Given the description of an element on the screen output the (x, y) to click on. 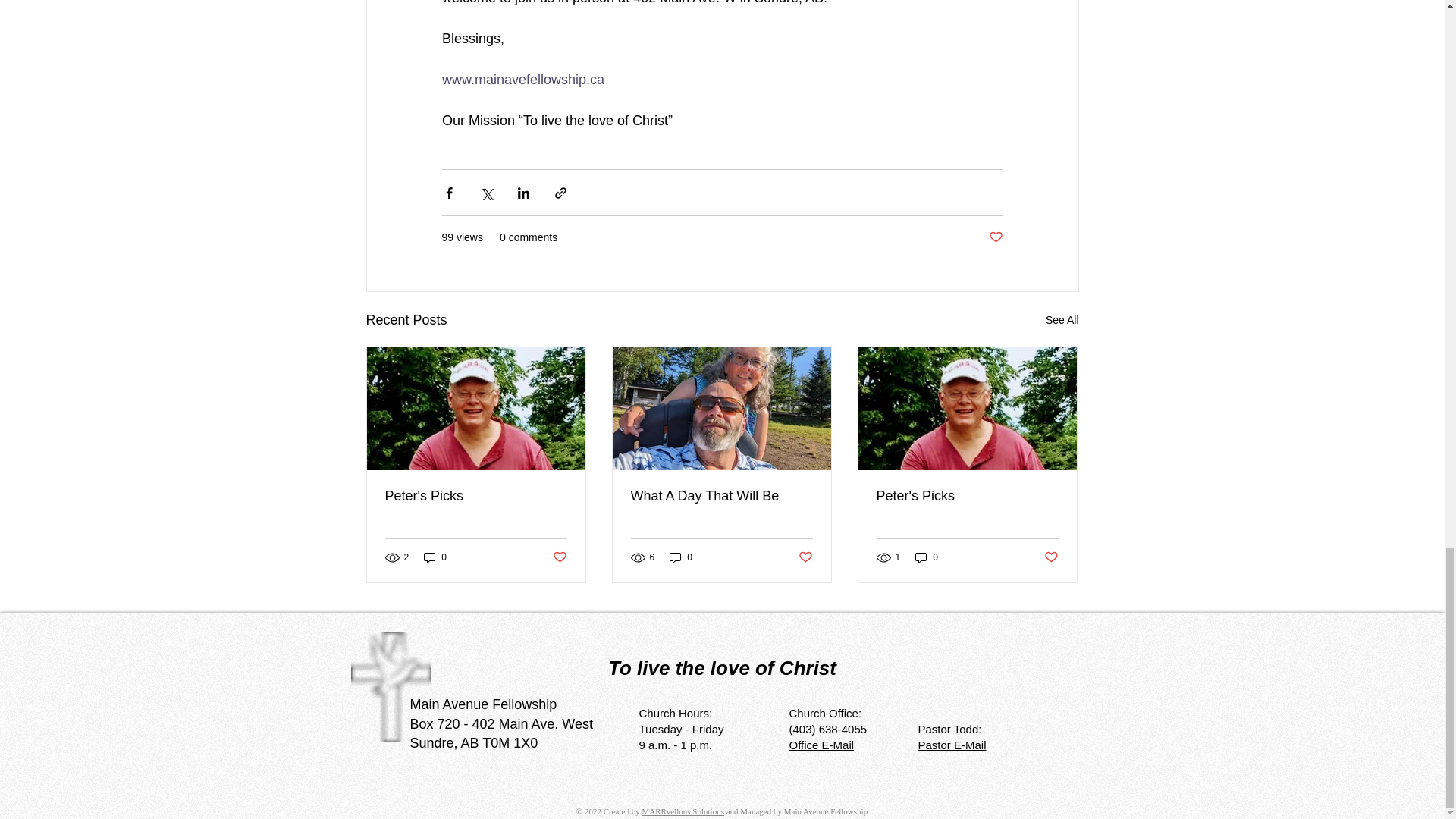
What A Day That Will Be  (721, 496)
Post not marked as liked (1050, 557)
Post not marked as liked (995, 237)
0 (435, 557)
www.mainavefellowship.ca (522, 79)
0 (681, 557)
0 (926, 557)
Post not marked as liked (804, 557)
Peter's Picks (967, 496)
Post not marked as liked (558, 557)
